Given the description of an element on the screen output the (x, y) to click on. 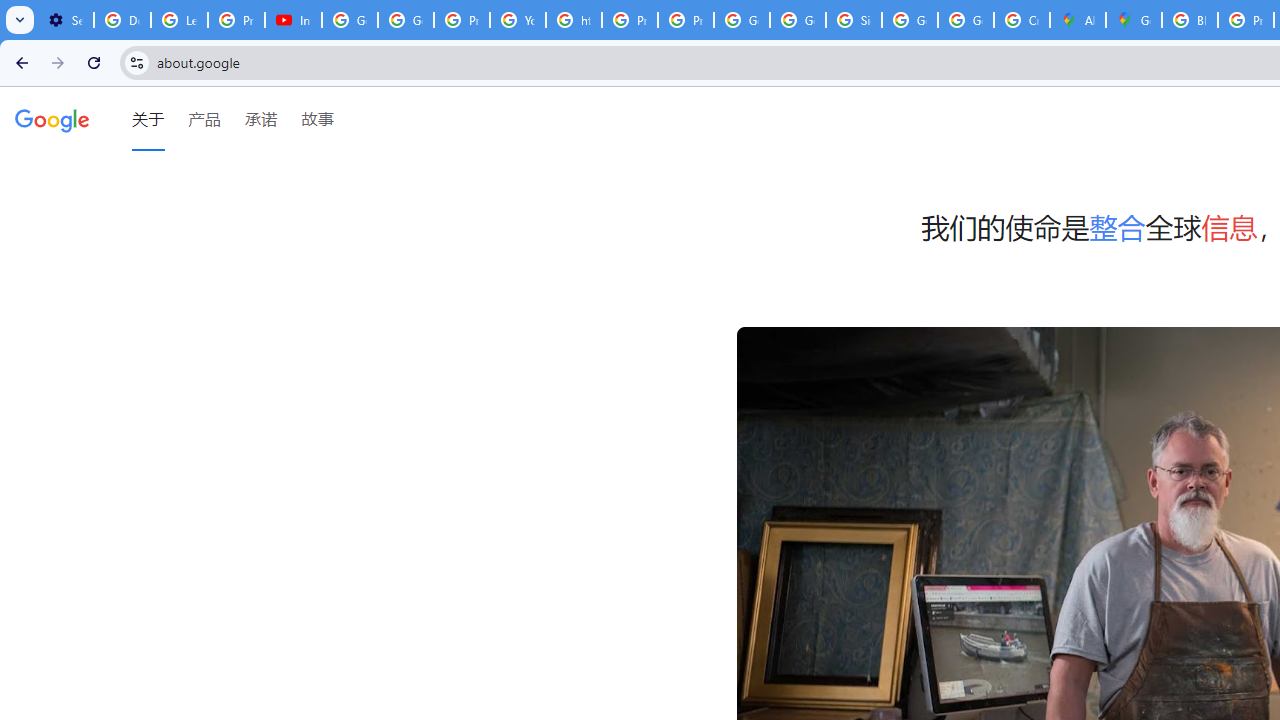
Privacy Help Center - Policies Help (629, 20)
Privacy Help Center - Policies Help (461, 20)
Learn how to find your photos - Google Photos Help (179, 20)
Google Account Help (349, 20)
Blogger Policies and Guidelines - Transparency Center (1190, 20)
